Given the description of an element on the screen output the (x, y) to click on. 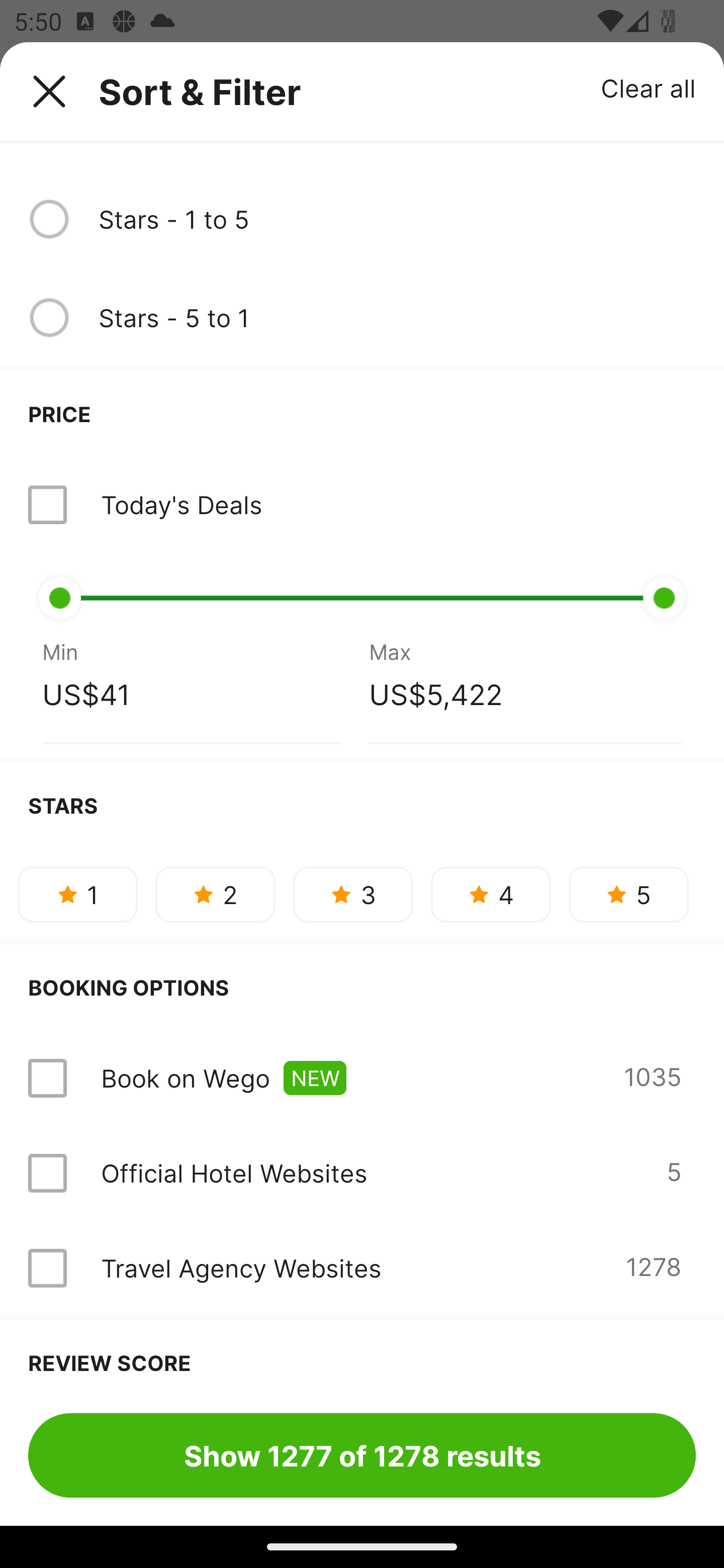
Clear all (648, 87)
Stars - 1 to 5 (396, 219)
Stars - 5 to 1 (396, 317)
Today's Deals (362, 504)
Today's Deals (181, 504)
1 (77, 894)
2 (214, 894)
3 (352, 894)
4 (491, 894)
5 (627, 894)
Book on Wego NEW 1035 (362, 1077)
Book on Wego (184, 1077)
Official Hotel Websites 5 (362, 1173)
Official Hotel Websites (233, 1172)
Travel Agency Websites 1278 (362, 1268)
Travel Agency Websites (240, 1267)
Show 1277 of 1278 results (361, 1454)
